Given the description of an element on the screen output the (x, y) to click on. 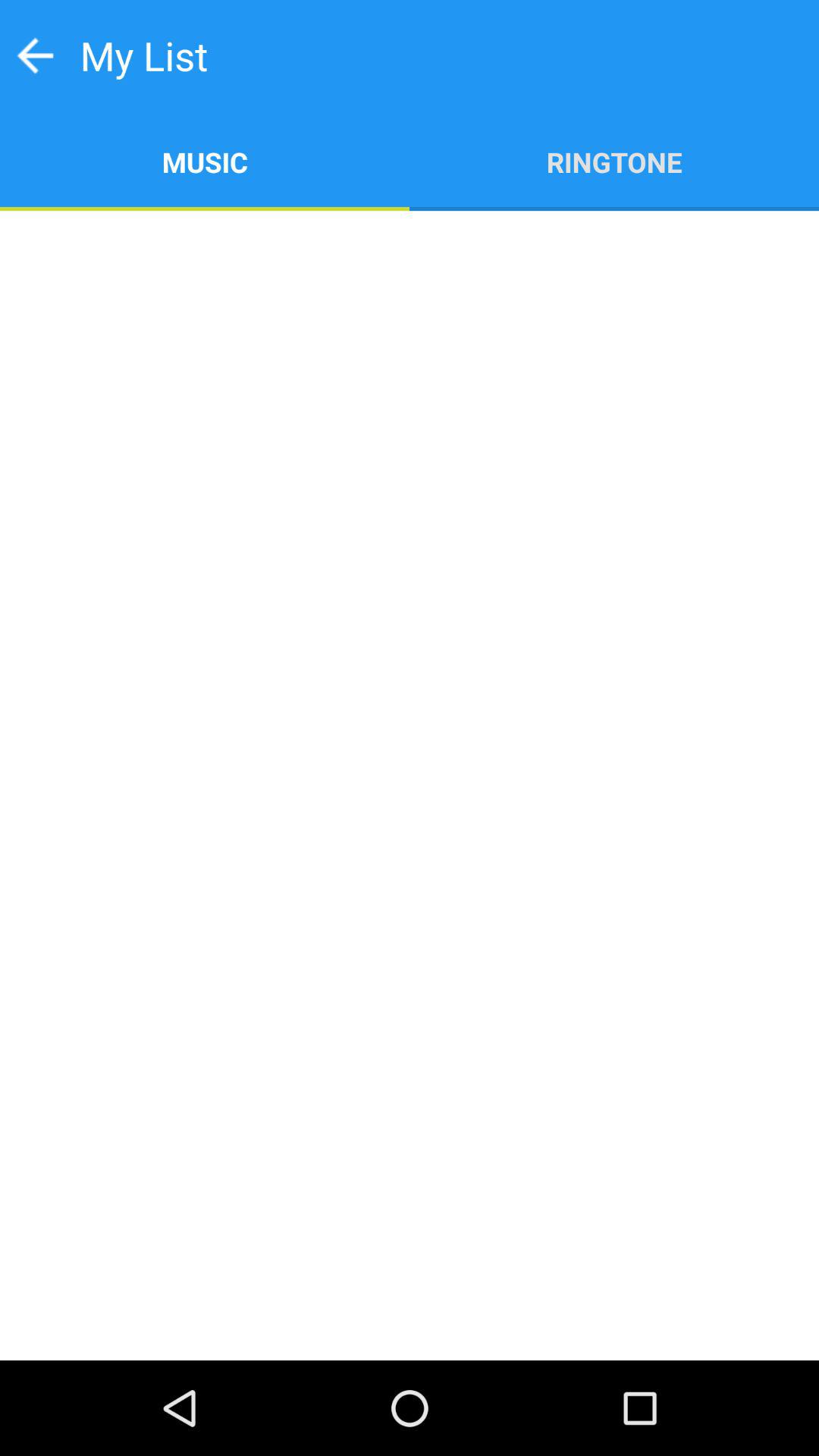
select the item at the center (409, 785)
